Given the description of an element on the screen output the (x, y) to click on. 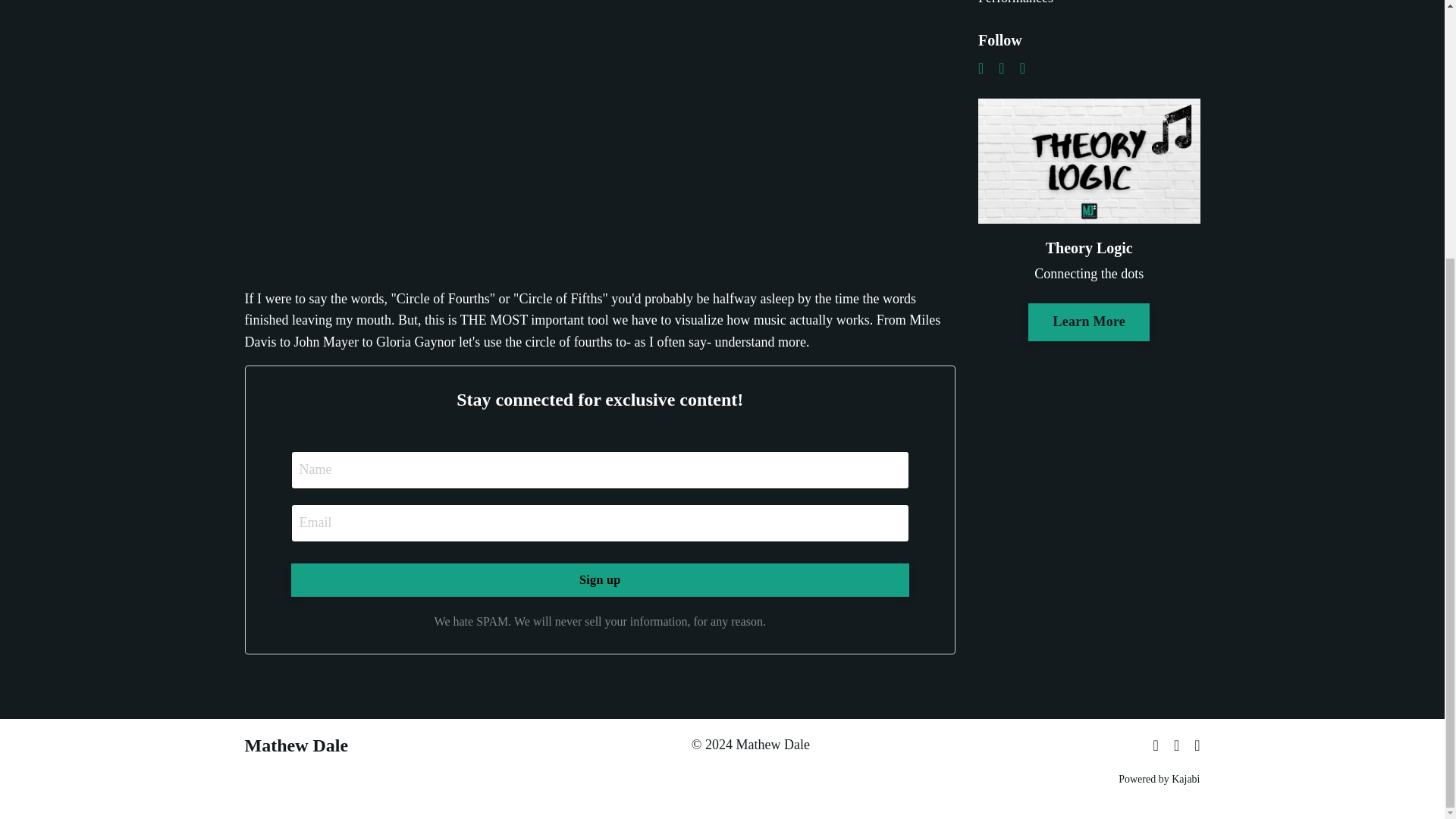
Powered by Kajabi (1158, 778)
Performances (1088, 4)
Learn More (1088, 322)
Mathew Dale (295, 745)
Sign up (600, 580)
Sign up (600, 580)
